Given the description of an element on the screen output the (x, y) to click on. 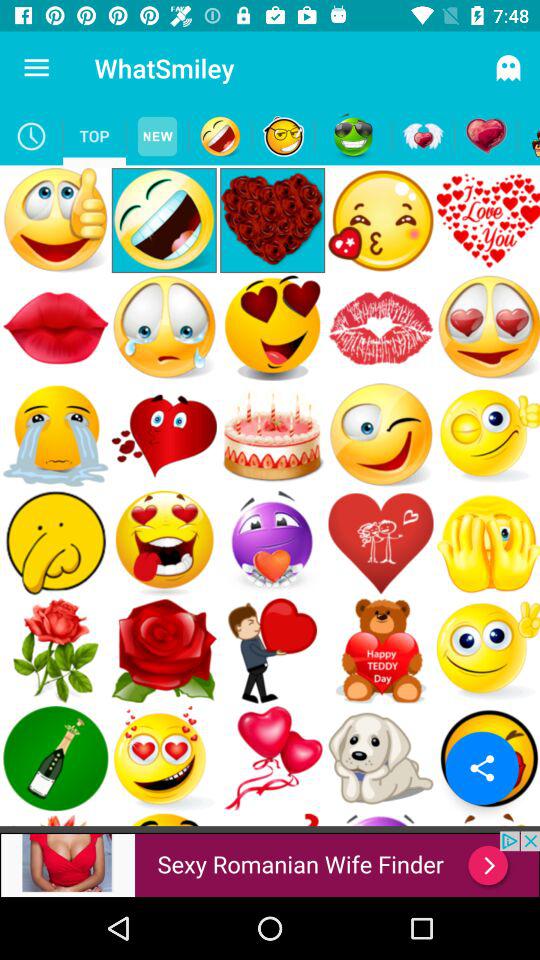
go to another type of emojis page (283, 136)
